Given the description of an element on the screen output the (x, y) to click on. 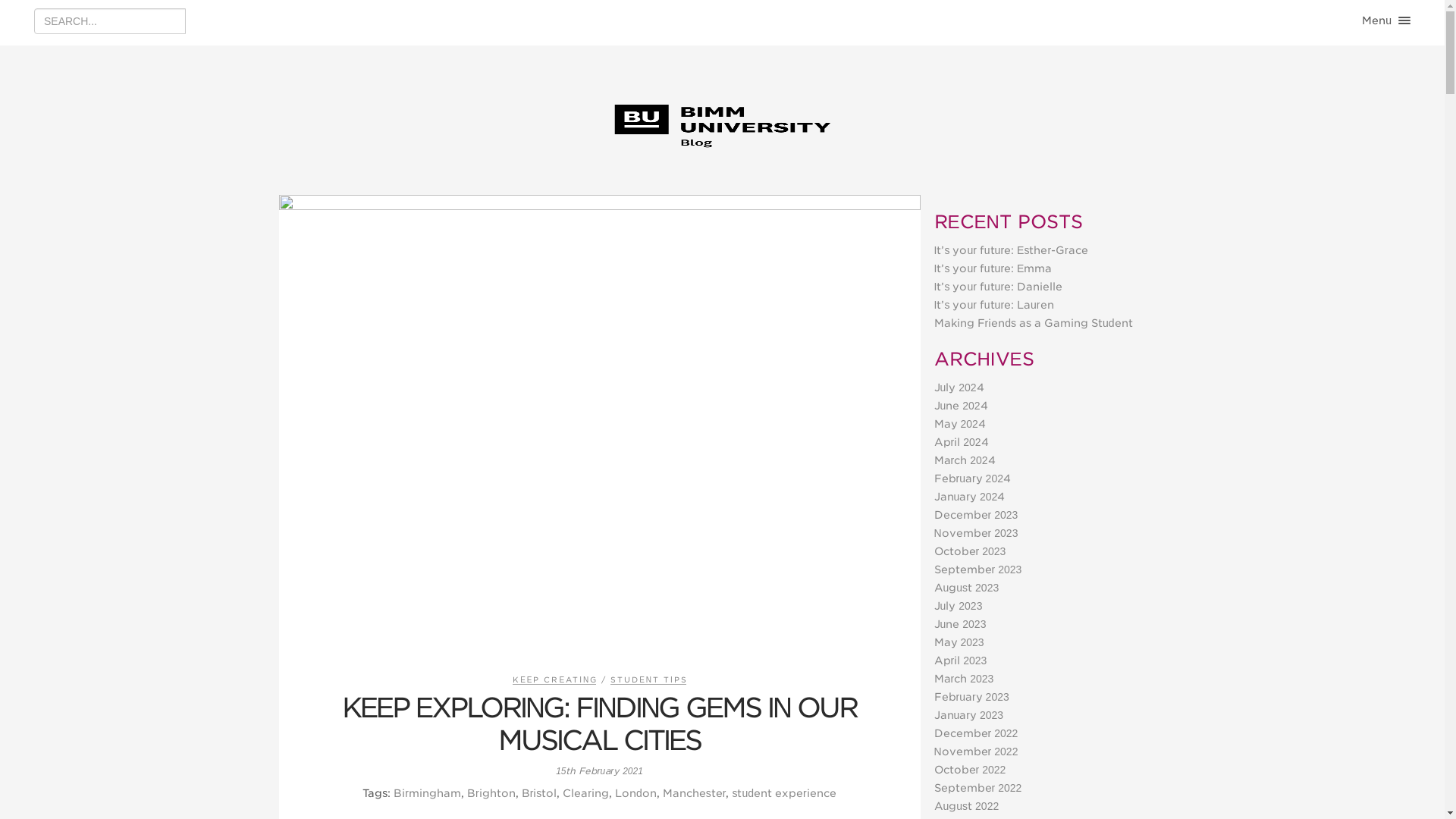
Brighton (491, 793)
London (635, 793)
Birmingham (427, 793)
CONTACT (1368, 83)
HOME (1368, 28)
Manchester (694, 793)
Clearing (585, 793)
KEEP CREATING (554, 678)
Bristol (539, 793)
CATEGORIES (1368, 55)
student experience (783, 793)
STUDENT TIPS (648, 678)
